Given the description of an element on the screen output the (x, y) to click on. 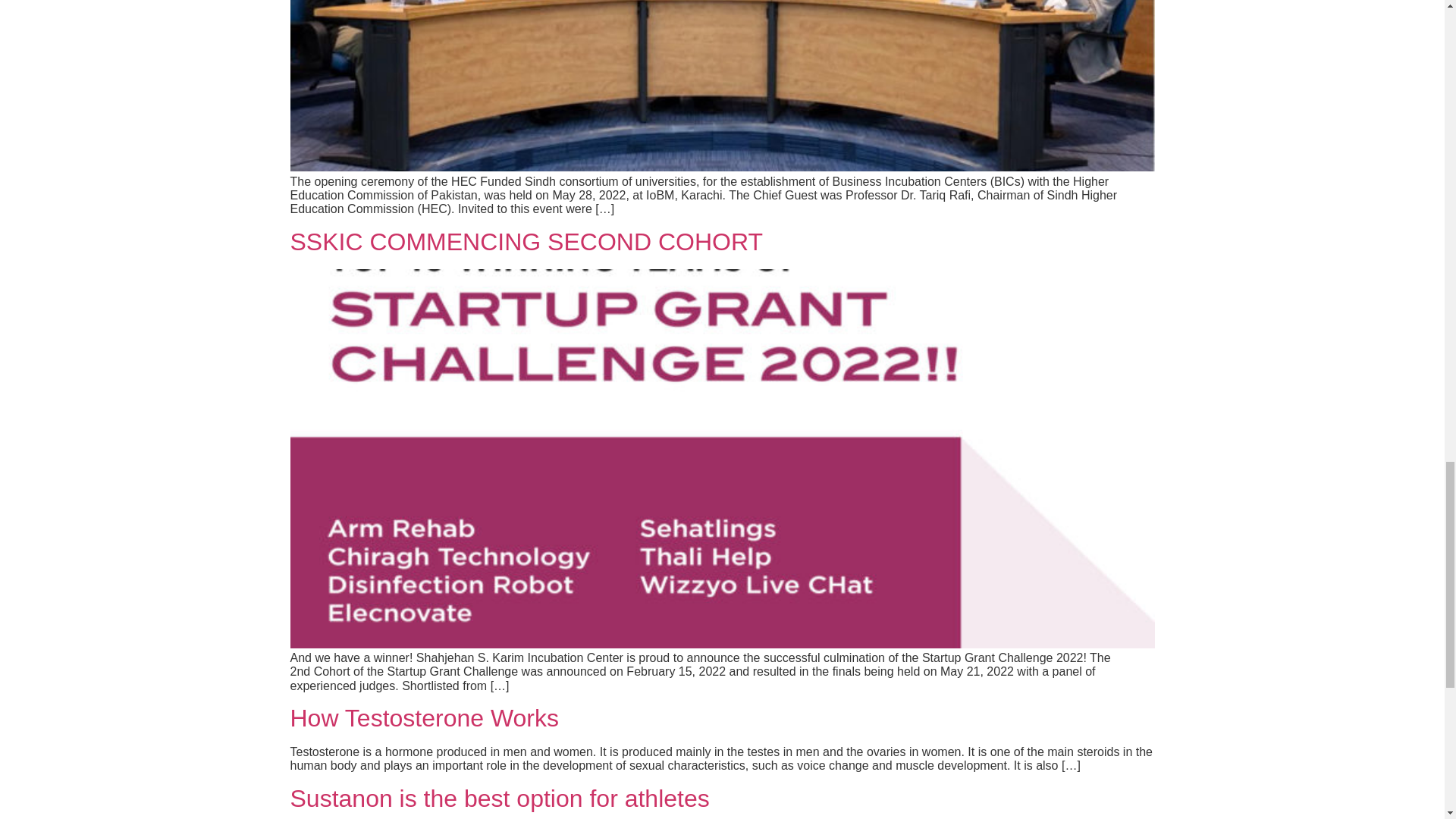
SSKIC COMMENCING SECOND COHORT (525, 241)
How Testosterone Works (424, 718)
Sustanon is the best option for athletes (499, 798)
